Given the description of an element on the screen output the (x, y) to click on. 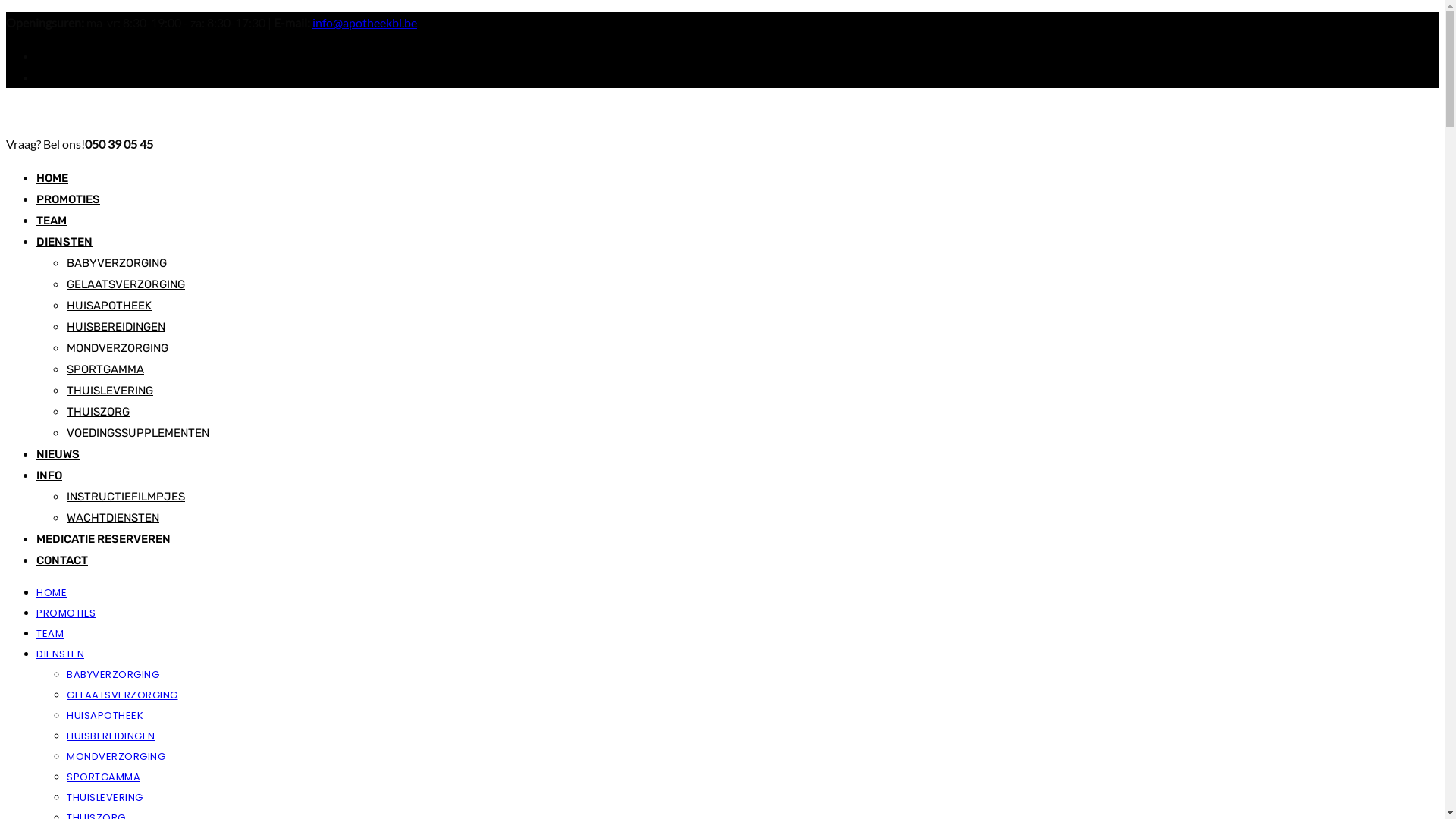
VOEDINGSSUPPLEMENTEN Element type: text (137, 432)
NIEUWS Element type: text (57, 454)
HUISAPOTHEEK Element type: text (104, 715)
GELAATSVERZORGING Element type: text (125, 284)
TEAM Element type: text (49, 633)
info@apotheekbl.be Element type: text (364, 22)
HUISBEREIDINGEN Element type: text (115, 326)
GELAATSVERZORGING Element type: text (122, 694)
SPORTGAMMA Element type: text (105, 369)
PROMOTIES Element type: text (68, 199)
HOME Element type: text (52, 178)
THUISLEVERING Element type: text (109, 390)
INSTRUCTIEFILMPJES Element type: text (125, 496)
HUISAPOTHEEK Element type: text (108, 305)
MEDICATIE RESERVEREN Element type: text (103, 539)
DIENSTEN Element type: text (64, 241)
CONTACT Element type: text (61, 560)
WACHTDIENSTEN Element type: text (112, 517)
DIENSTEN Element type: text (60, 653)
TEAM Element type: text (51, 220)
MONDVERZORGING Element type: text (117, 347)
SPORTGAMMA Element type: text (103, 776)
HOME Element type: text (51, 592)
THUISLEVERING Element type: text (104, 797)
MONDVERZORGING Element type: text (115, 756)
THUISZORG Element type: text (97, 411)
BABYVERZORGING Element type: text (116, 262)
BABYVERZORGING Element type: text (112, 674)
HUISBEREIDINGEN Element type: text (110, 735)
INFO Element type: text (49, 475)
PROMOTIES Element type: text (66, 612)
